Given the description of an element on the screen output the (x, y) to click on. 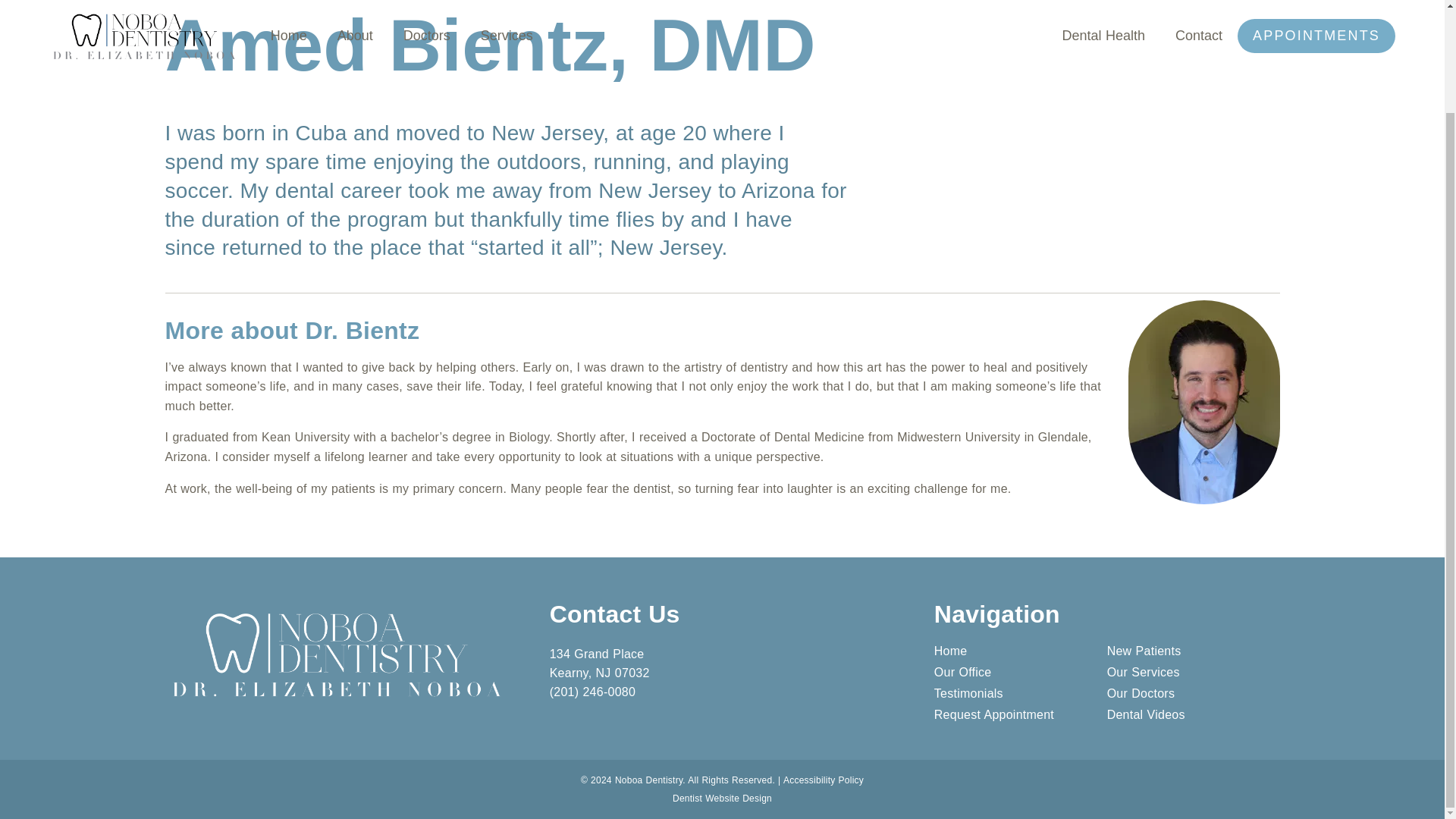
Our Doctors (1192, 694)
Our Services (1192, 672)
Dentist Website Design (721, 798)
Our Office (1020, 672)
Home (1020, 651)
Accessibility Policy (823, 779)
Request Appointment (1020, 714)
Testimonials (1020, 694)
New Patients (1192, 651)
Dental Videos (1192, 714)
